Given the description of an element on the screen output the (x, y) to click on. 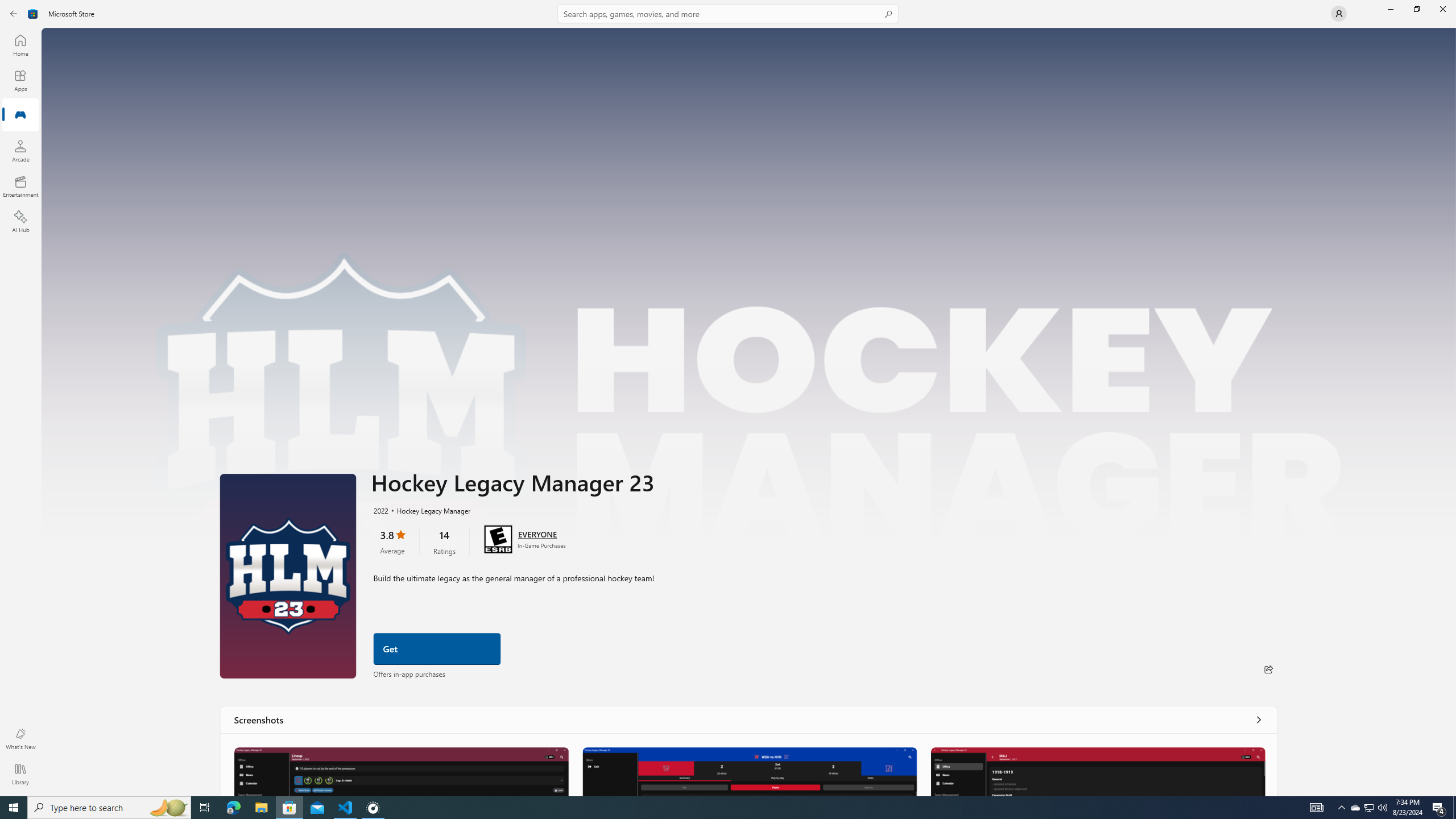
Hockey Legacy Manager (428, 510)
Arcade (20, 150)
Home (20, 45)
Screenshot 2 (748, 771)
Get (436, 649)
See all (1258, 719)
Search (727, 13)
Minimize Microsoft Store (1390, 9)
What's New (20, 738)
Close Microsoft Store (1442, 9)
Apps (20, 80)
AI Hub (20, 221)
Age rating: EVERYONE. Click for more information. (537, 533)
3.8 stars. Click to skip to ratings and reviews (392, 541)
Back (13, 13)
